Given the description of an element on the screen output the (x, y) to click on. 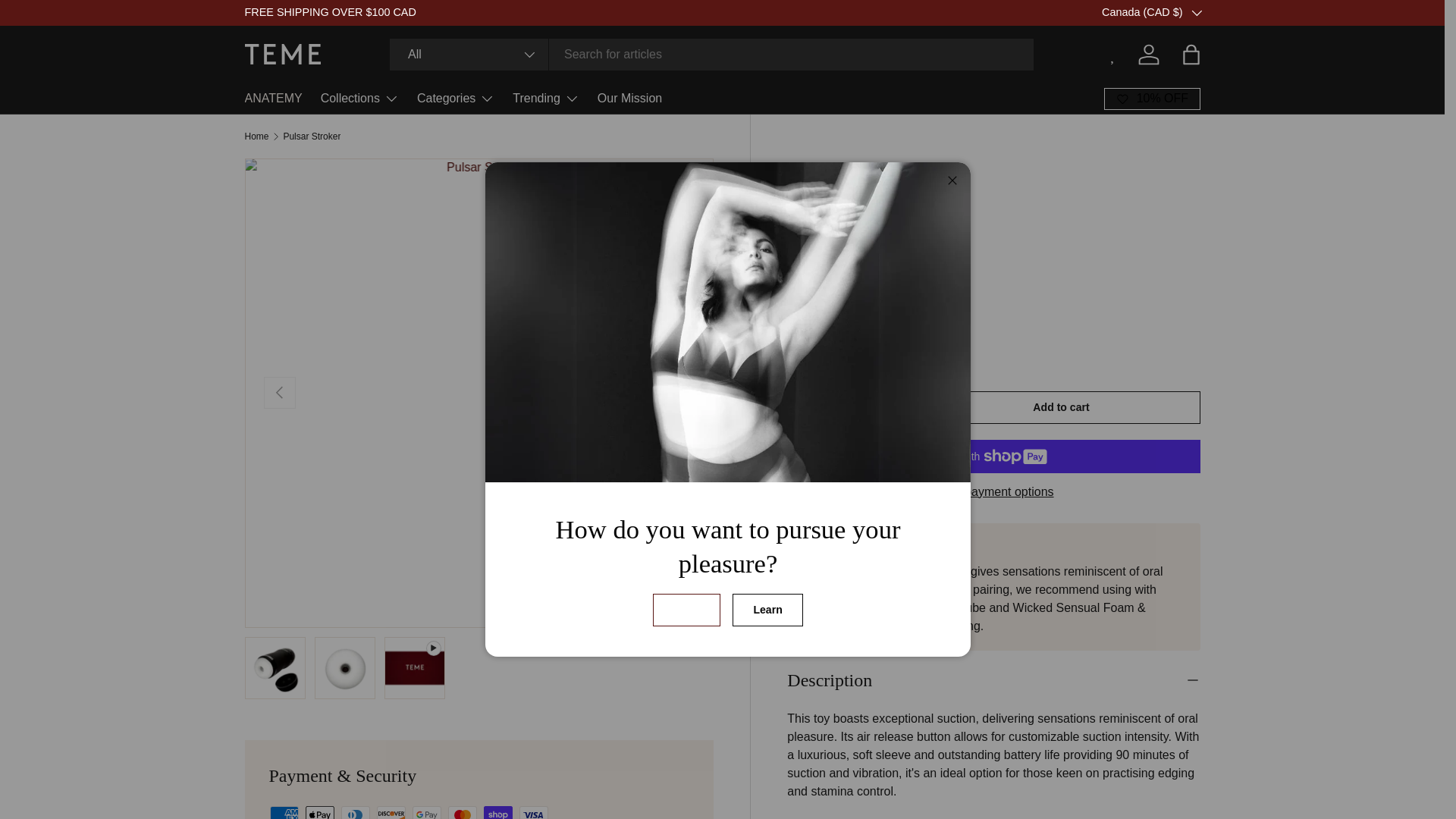
Collections (359, 98)
ANATEMY (272, 98)
Log in (1147, 54)
Skip to content (68, 21)
Bag (1190, 54)
All (469, 54)
LEARN MORE (1223, 11)
Trending (545, 98)
Categories (455, 98)
Duties Credit (1223, 11)
1 (848, 409)
